Given the description of an element on the screen output the (x, y) to click on. 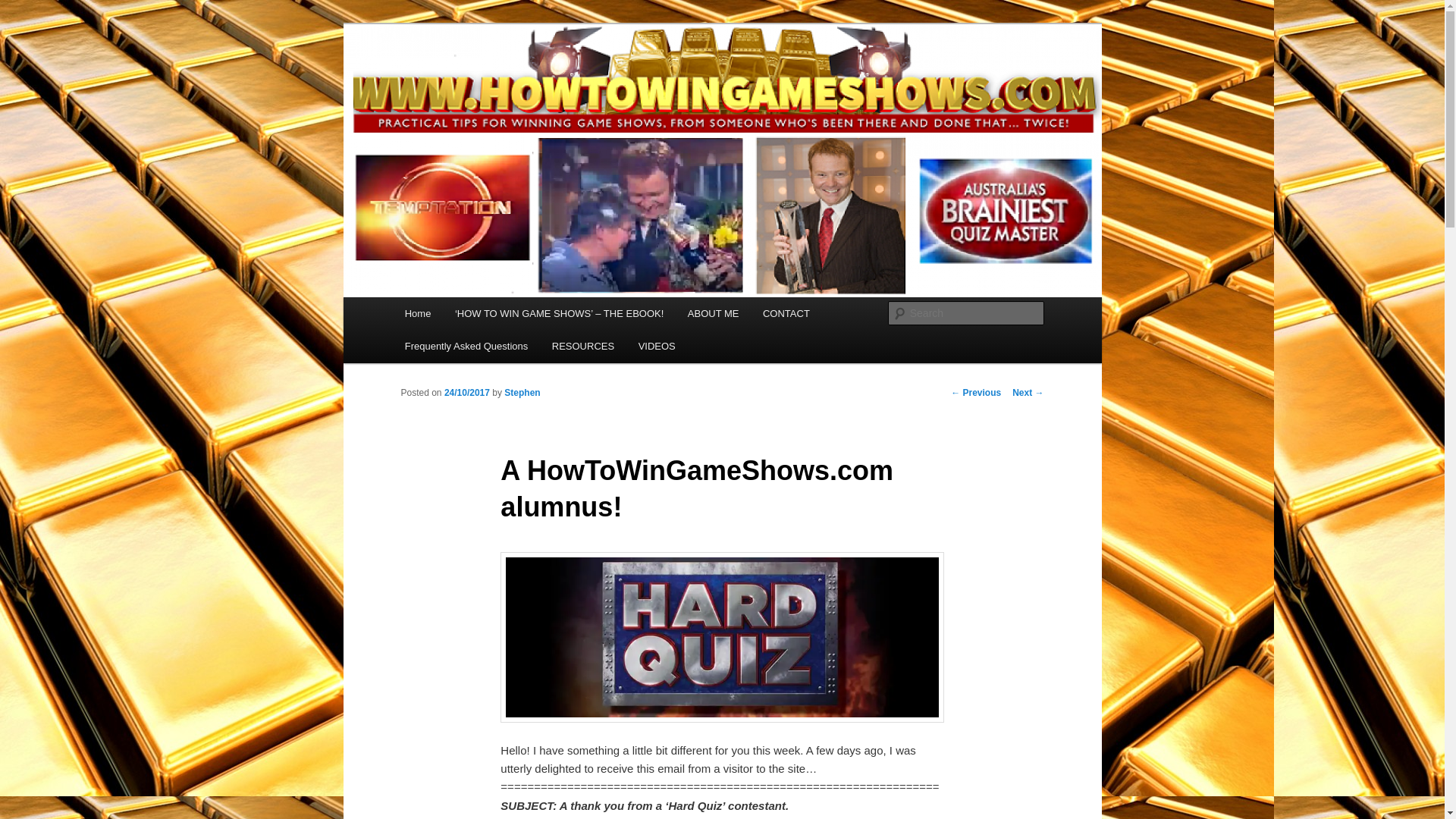
Home (417, 313)
HowToWinGameShows.com (553, 78)
CONTACT (786, 313)
ABOUT ME (713, 313)
6:22 PM (466, 392)
Search (24, 8)
Stephen (521, 392)
VIDEOS (656, 346)
RESOURCES (583, 346)
